Given the description of an element on the screen output the (x, y) to click on. 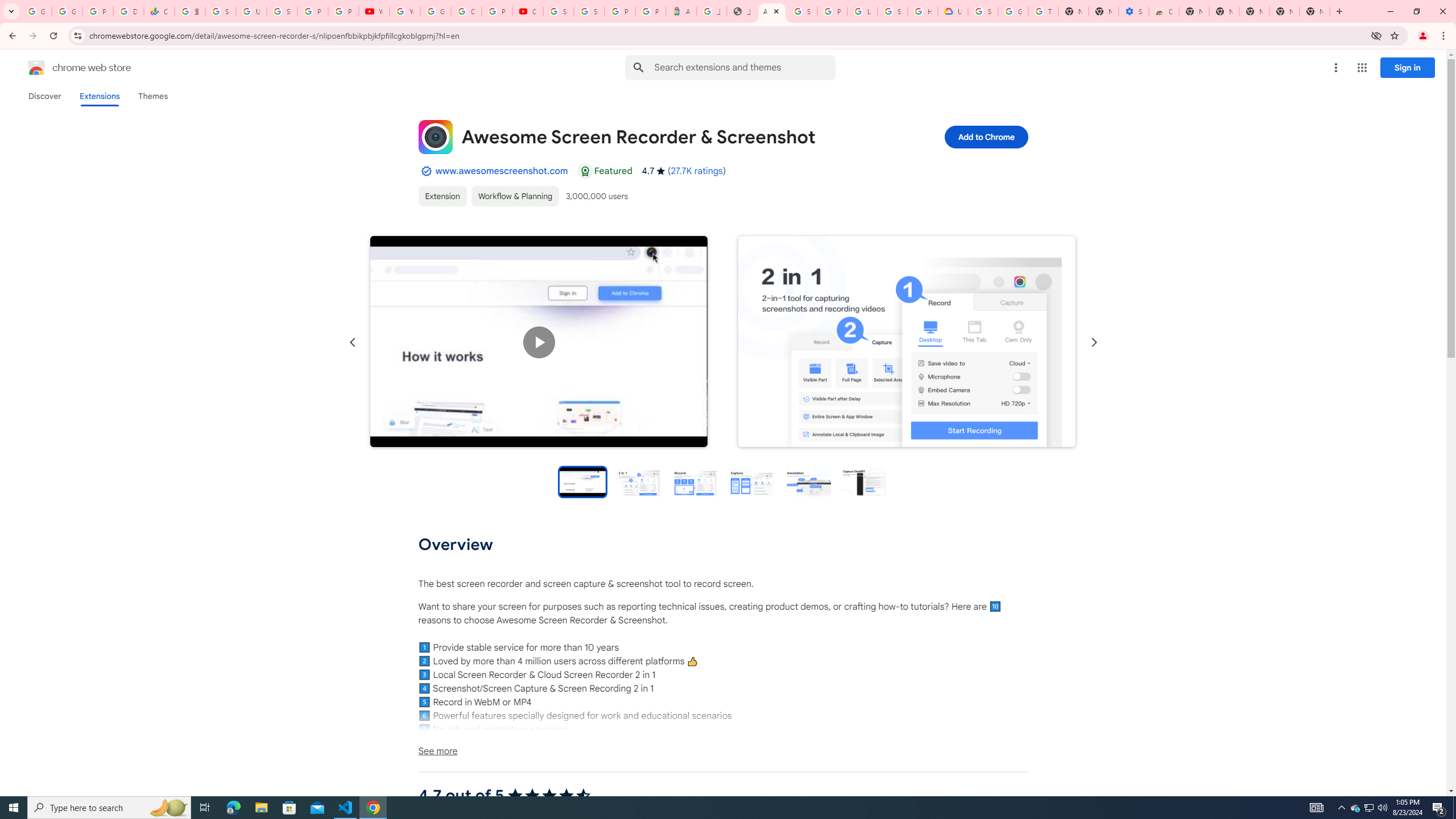
Workflow & Planning (514, 195)
Themes (152, 95)
See more (722, 751)
Search input (744, 67)
Item media 2 screenshot (906, 342)
Settings - Accessibility (1133, 11)
Currencies - Google Finance (158, 11)
Content Creator Programs & Opportunities - YouTube Creators (527, 11)
New Tab (1314, 11)
